Given the description of an element on the screen output the (x, y) to click on. 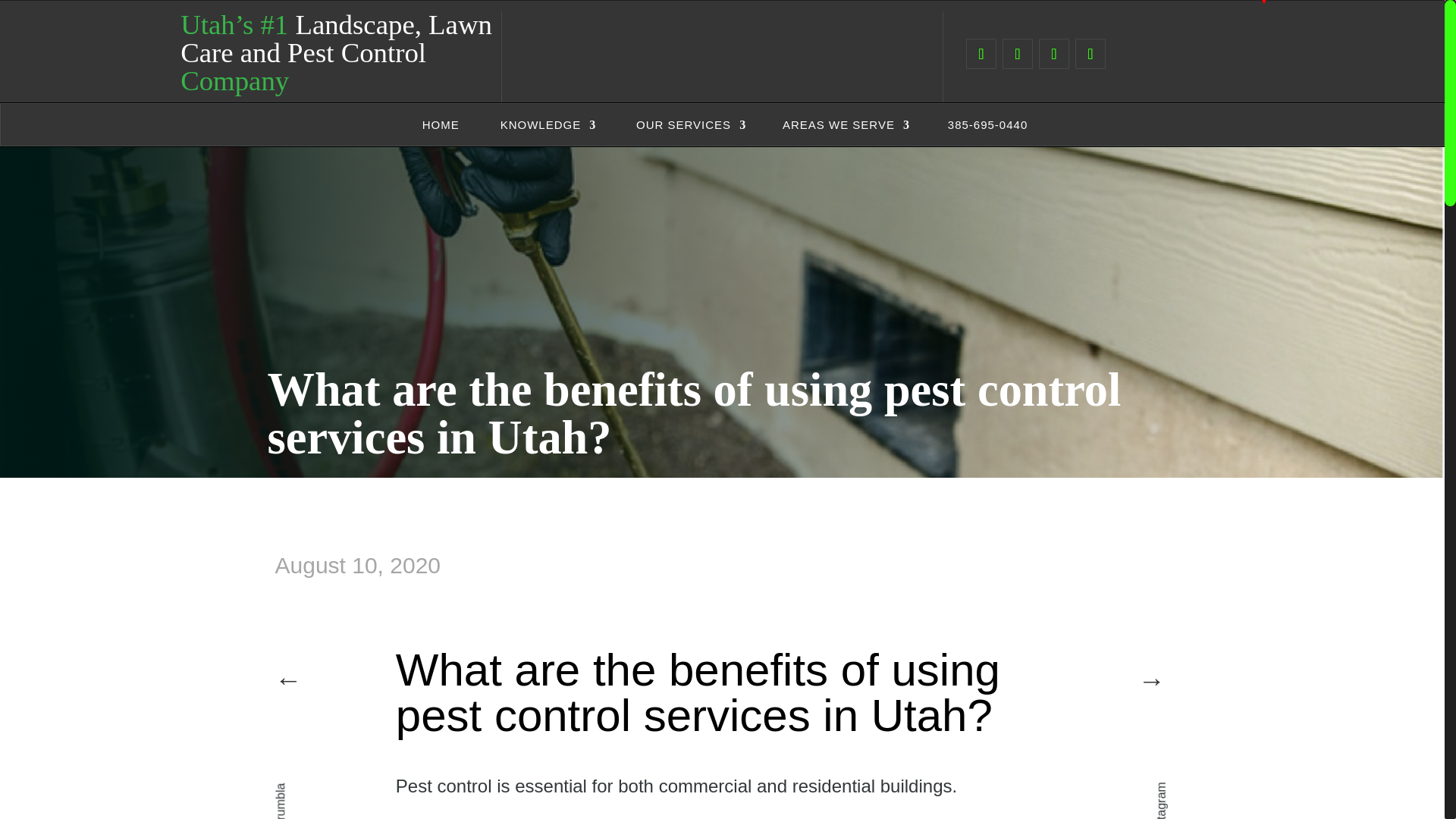
OUR SERVICES (688, 127)
AREAS WE SERVE (845, 127)
Follow on LinkedIn (1053, 53)
Follow on Facebook (980, 53)
Follow on Instagram (1090, 53)
Instagram (1181, 788)
Follow on X (1017, 53)
HOME (438, 127)
KNOWLEDGE (545, 127)
